Given the description of an element on the screen output the (x, y) to click on. 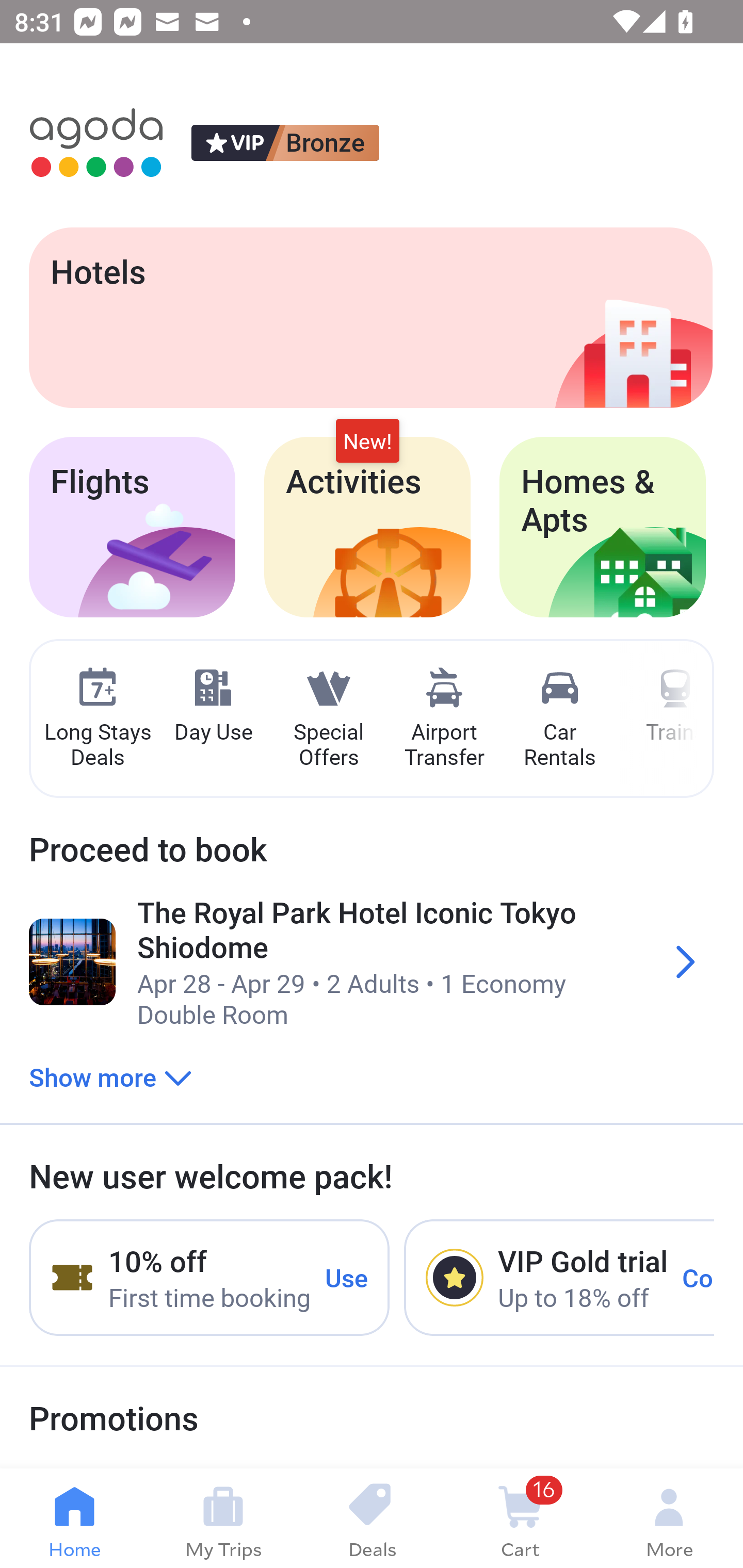
Hotels (370, 317)
New! (367, 441)
Flights (131, 527)
Activities (367, 527)
Homes & Apts (602, 527)
Day Use (213, 706)
Long Stays Deals (97, 718)
Special Offers (328, 718)
Airport Transfer (444, 718)
Car Rentals (559, 718)
Show more (110, 1076)
Use (346, 1277)
Home (74, 1518)
My Trips (222, 1518)
Deals (371, 1518)
16 Cart (519, 1518)
More (668, 1518)
